Given the description of an element on the screen output the (x, y) to click on. 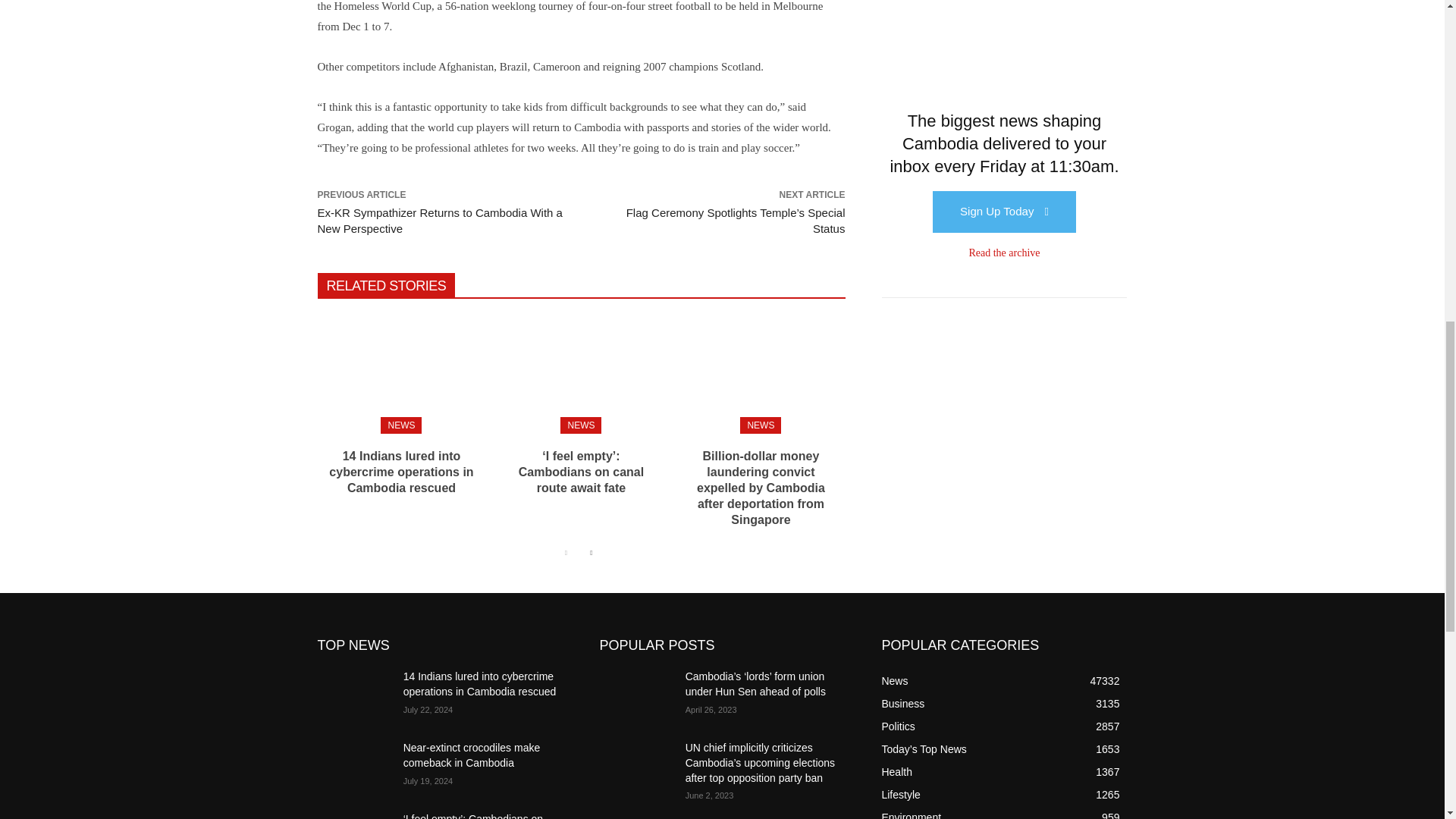
NEWS (401, 425)
Ex-KR Sympathizer Returns to Cambodia With a New Perspective (439, 220)
NEWS (759, 425)
NEWS (580, 425)
